Given the description of an element on the screen output the (x, y) to click on. 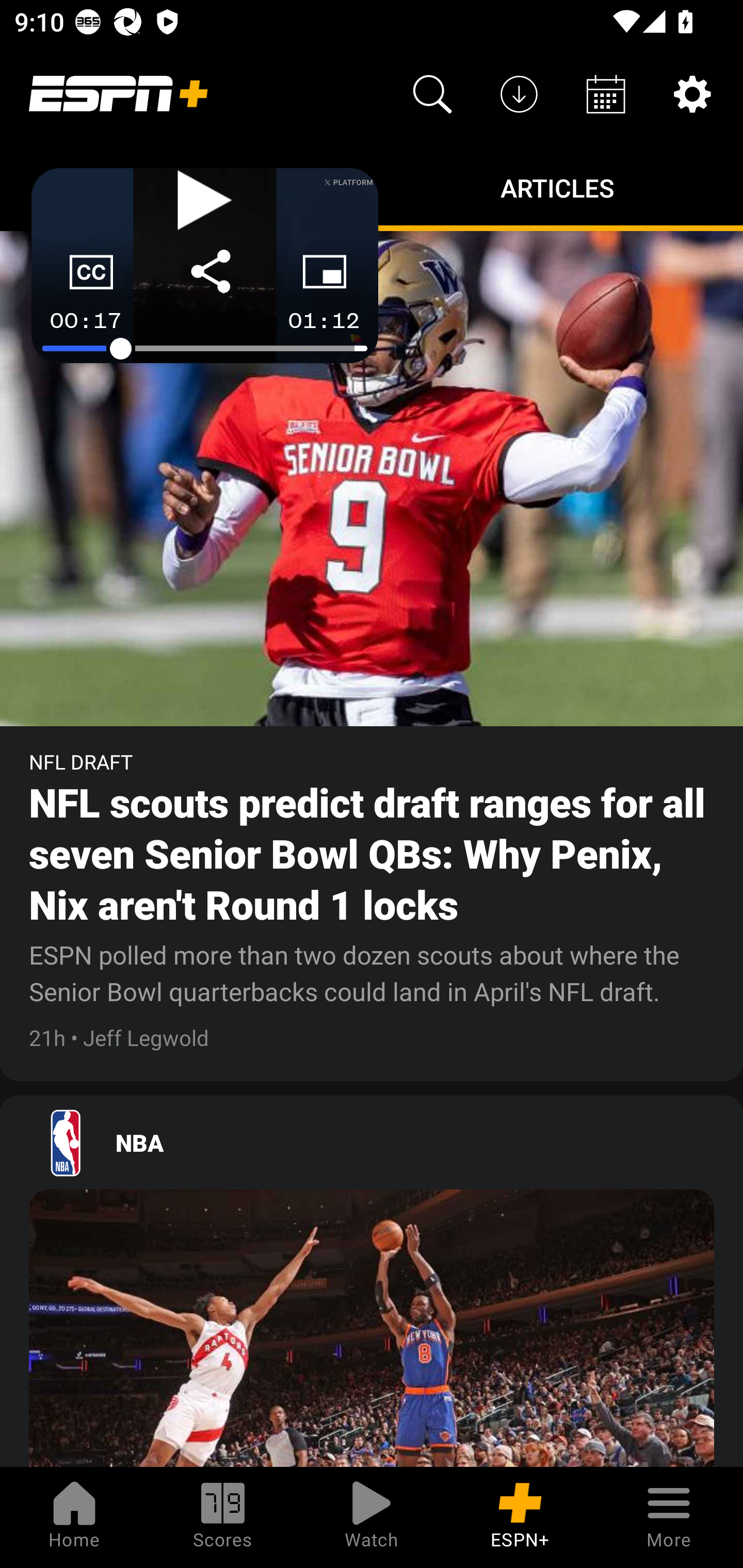
Search (432, 93)
Downloads (518, 93)
Schedule (605, 93)
Settings (692, 93)
Home (74, 1517)
Scores (222, 1517)
Watch (371, 1517)
More (668, 1517)
